Given the description of an element on the screen output the (x, y) to click on. 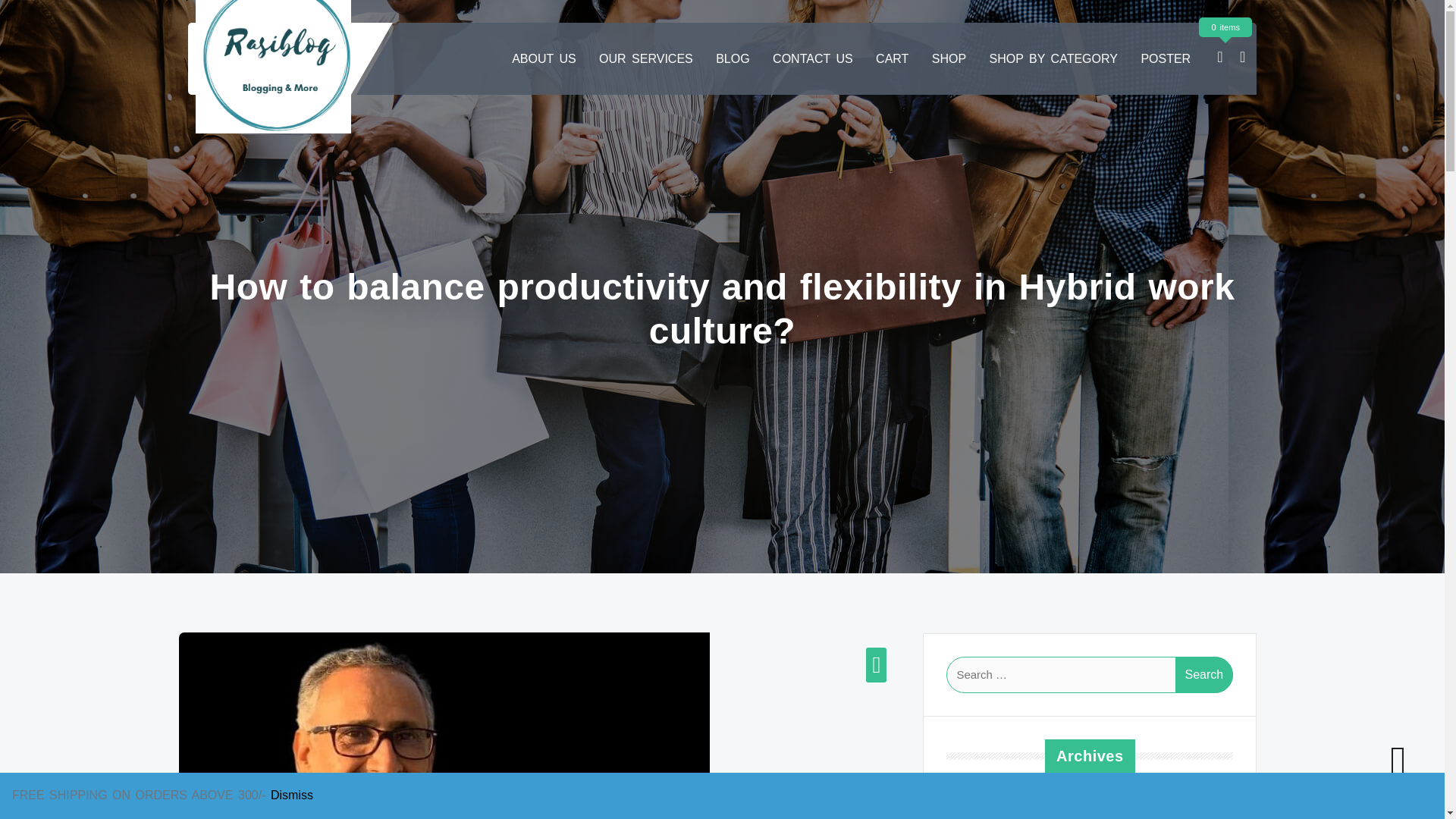
CONTACT US (811, 58)
Search (1203, 674)
Search (1203, 674)
OUR SERVICES (645, 58)
CART (891, 58)
SHOP (949, 58)
BLOG (732, 58)
POSTER (1165, 58)
ABOUT US (543, 58)
SHOP BY CATEGORY (1052, 58)
